Given the description of an element on the screen output the (x, y) to click on. 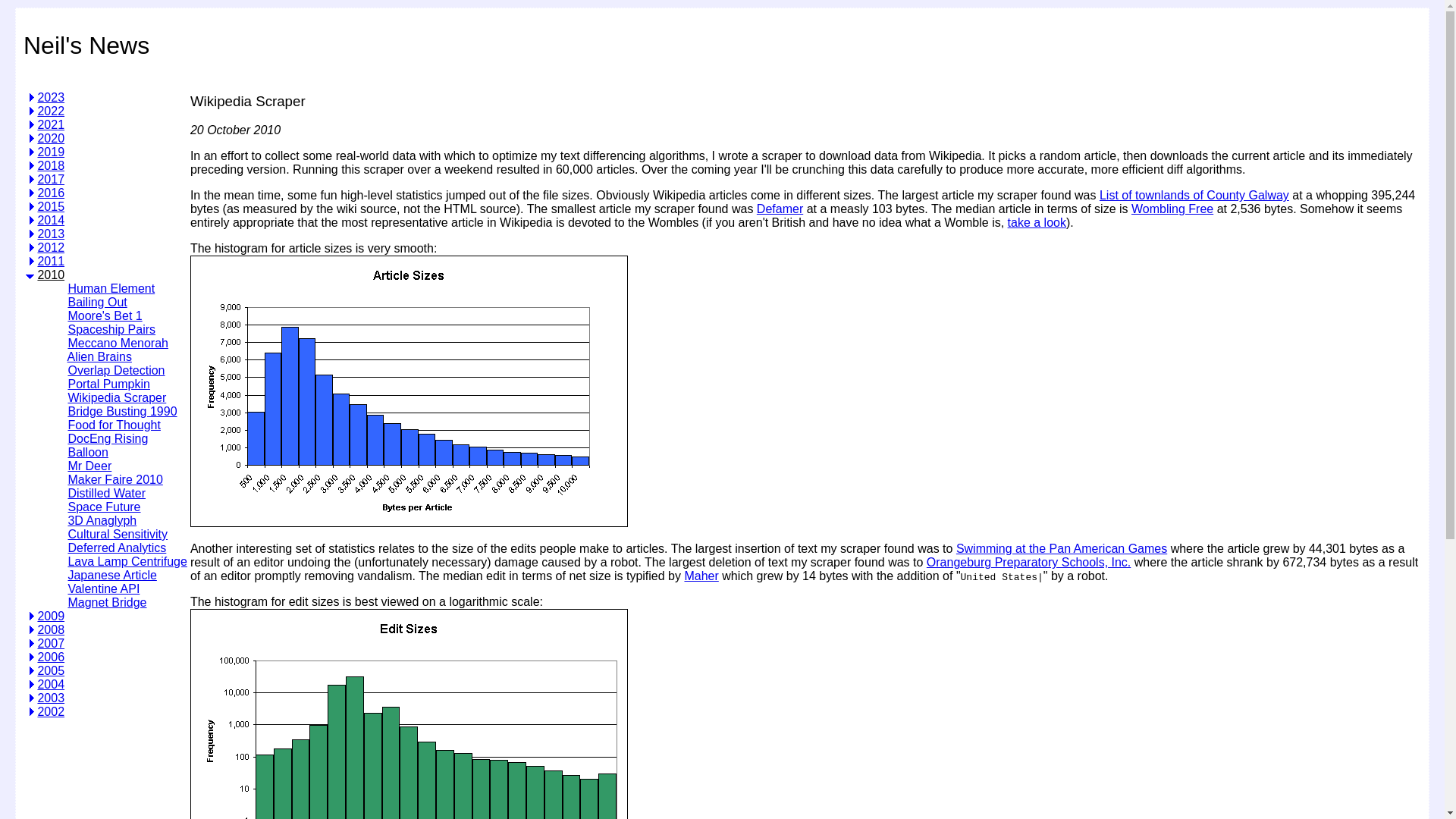
Alien Brains (99, 356)
28 October 2010 (107, 383)
Wikipedia Scraper (115, 397)
Meccano Menorah (117, 342)
17 December 2010 (103, 315)
2014 (50, 219)
Food for Thought (113, 424)
Human Element (110, 287)
Mr Deer (89, 465)
23 September 2010 (107, 438)
